Given the description of an element on the screen output the (x, y) to click on. 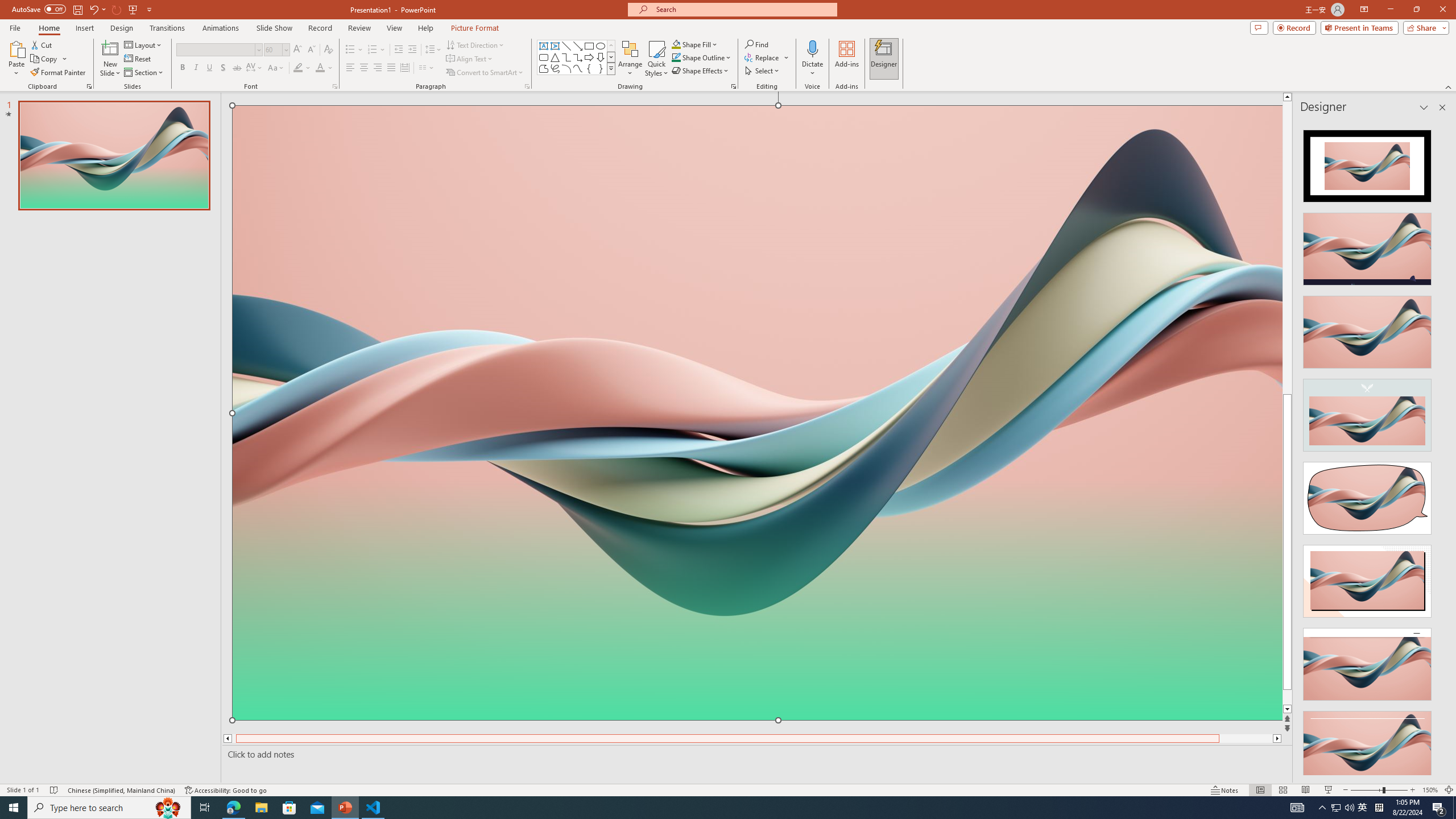
Wavy 3D art (757, 412)
